Given the description of an element on the screen output the (x, y) to click on. 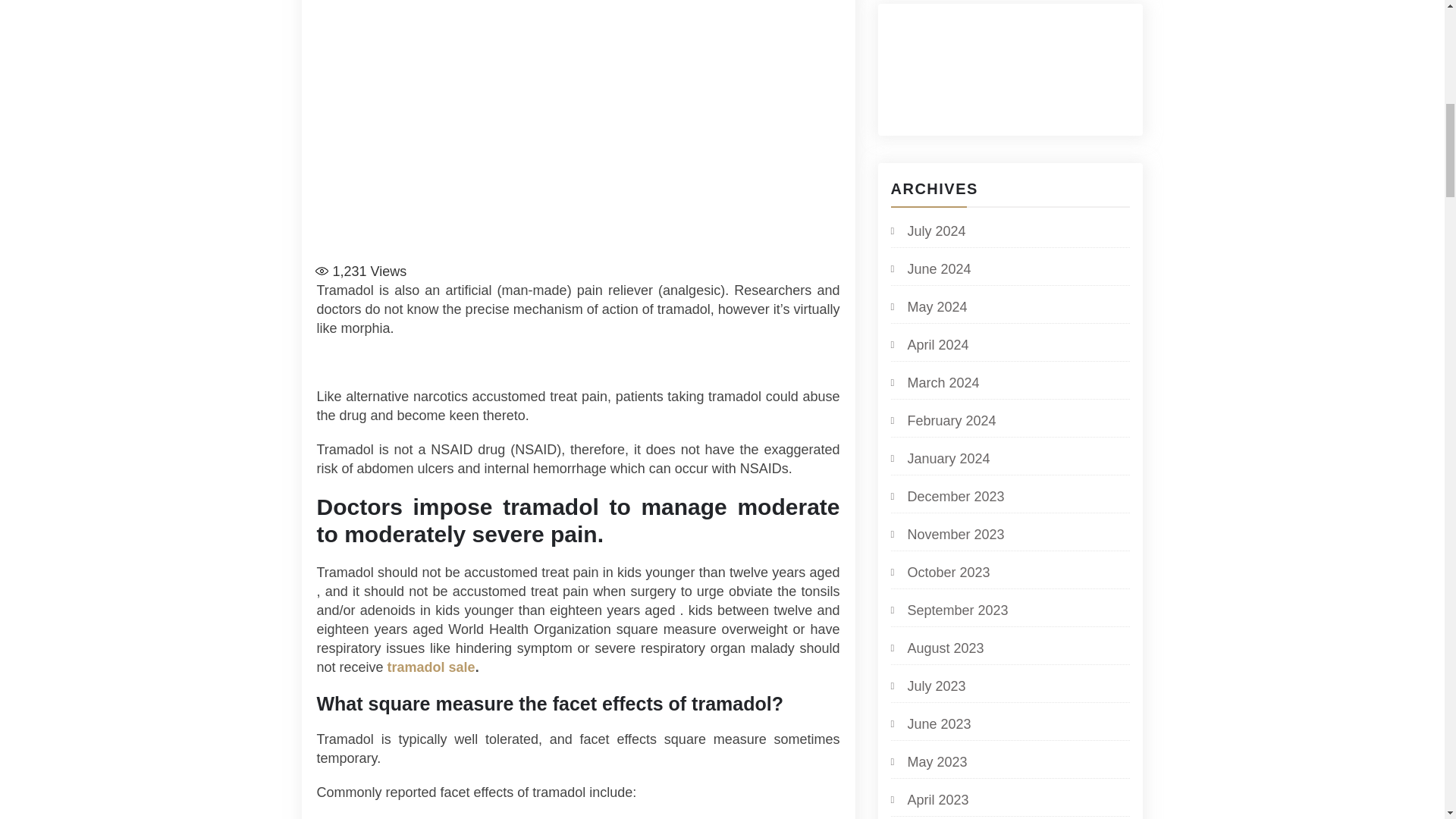
tramadol sale (431, 667)
Advertisement (578, 175)
